Given the description of an element on the screen output the (x, y) to click on. 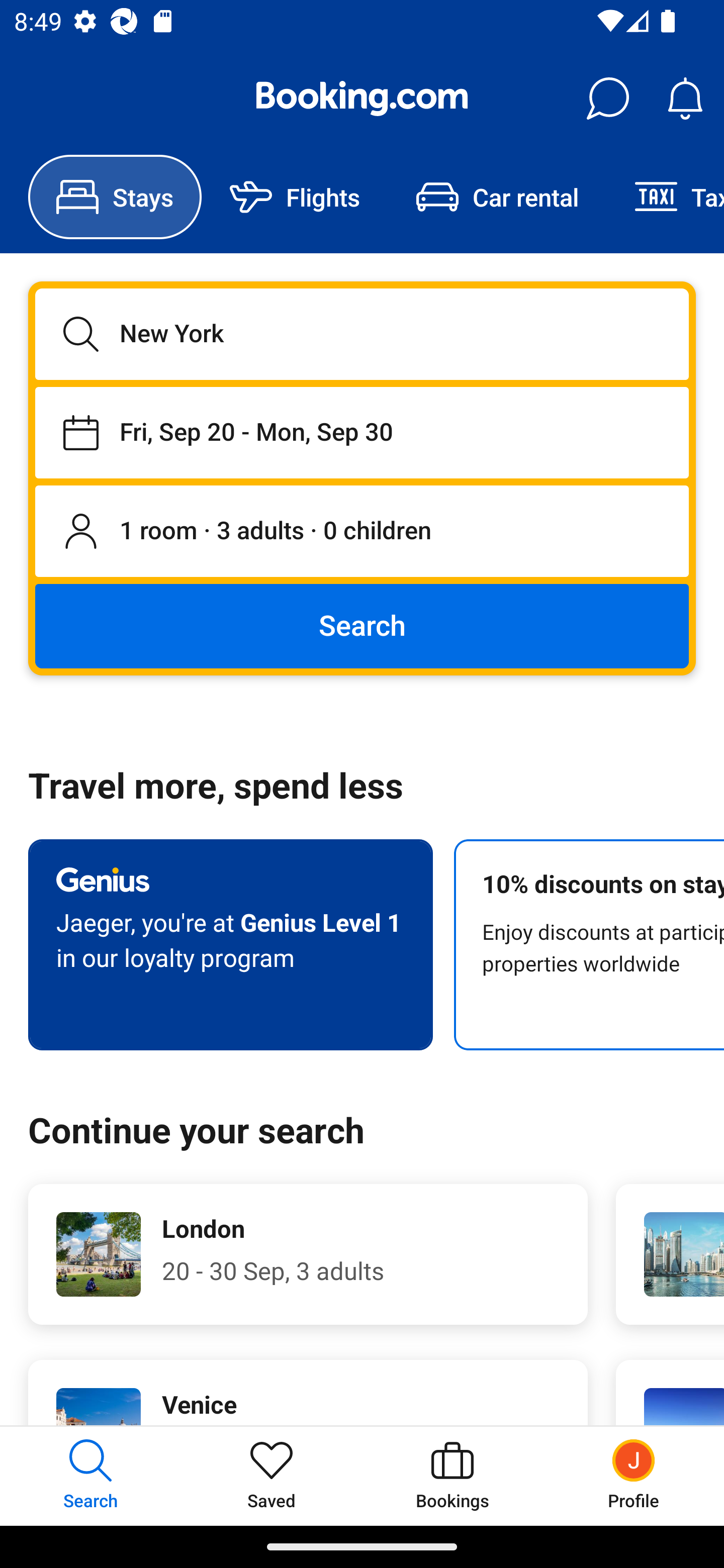
Messages (607, 98)
Notifications (685, 98)
Stays (114, 197)
Flights (294, 197)
Car rental (497, 197)
Taxi (665, 197)
New York (361, 333)
Staying from Fri, Sep 20 until Mon, Sep 30 (361, 432)
1 room, 3 adults, 0 children (361, 531)
Search (361, 625)
London 20 - 30 Sep, 3 adults (307, 1253)
Saved (271, 1475)
Bookings (452, 1475)
Profile (633, 1475)
